Given the description of an element on the screen output the (x, y) to click on. 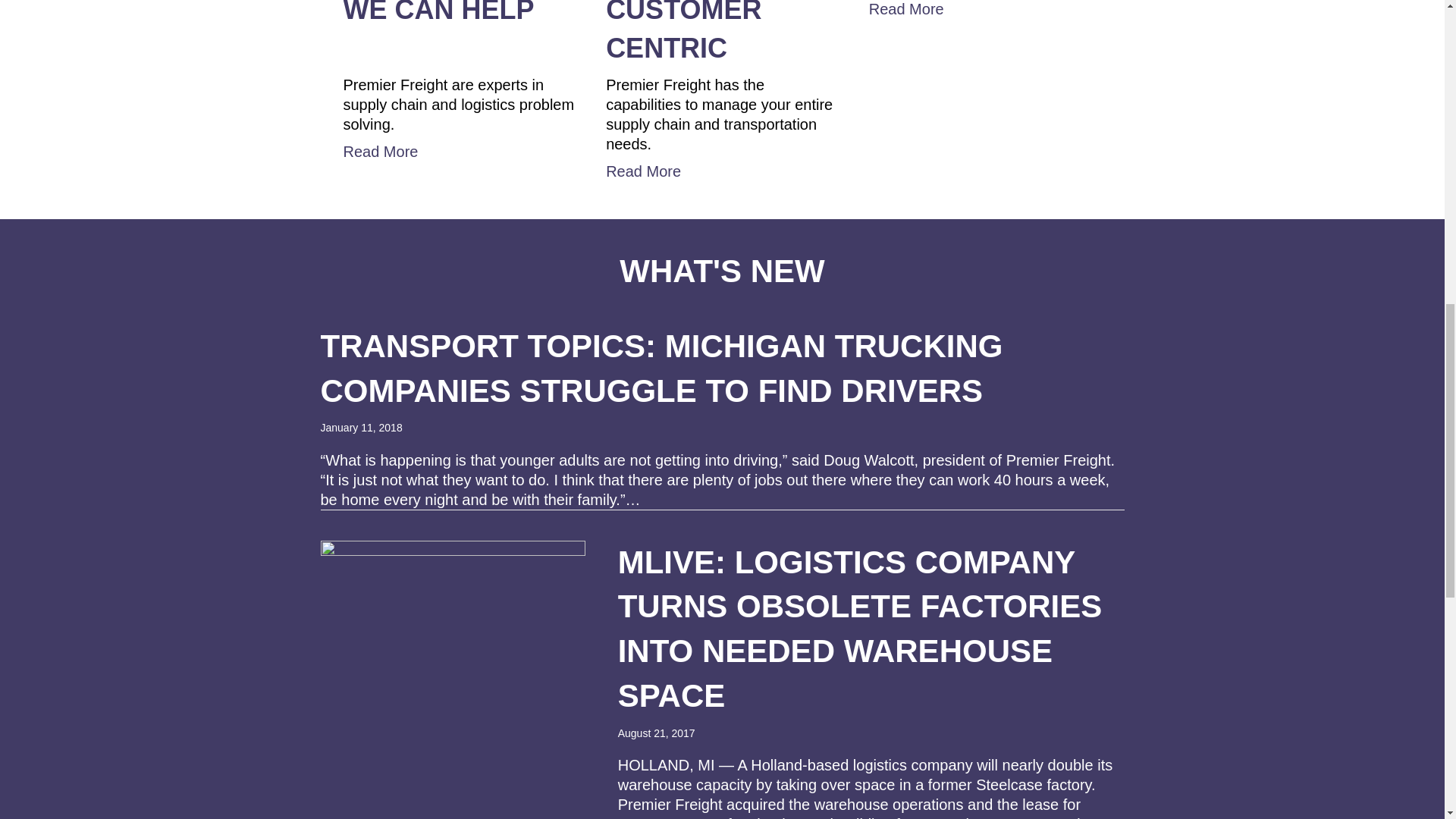
CUSTOMER CENTRIC (683, 31)
WE CAN HELP (438, 31)
Read More (458, 151)
Read More (721, 170)
